Given the description of an element on the screen output the (x, y) to click on. 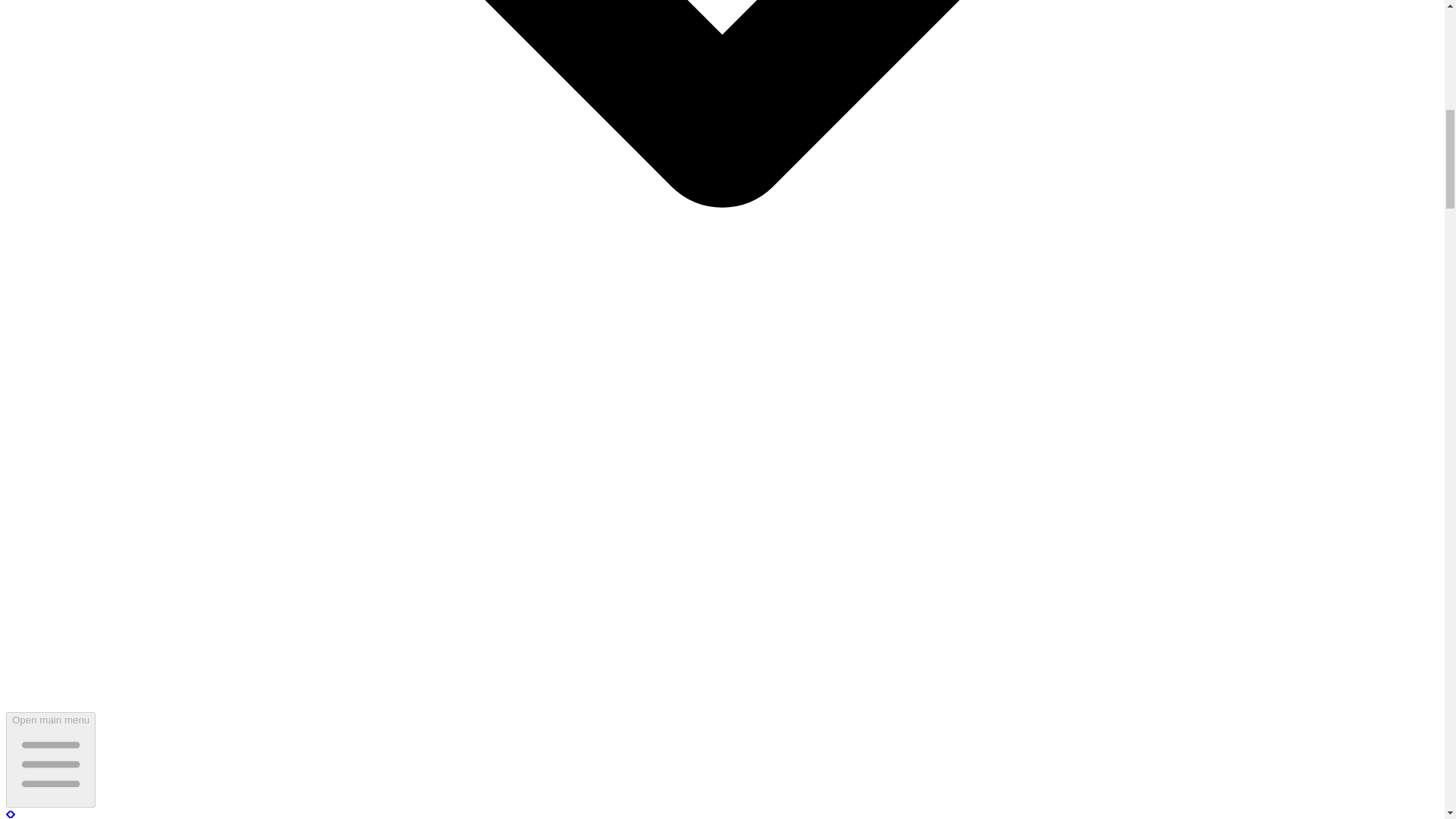
Open main menu (50, 759)
